Given the description of an element on the screen output the (x, y) to click on. 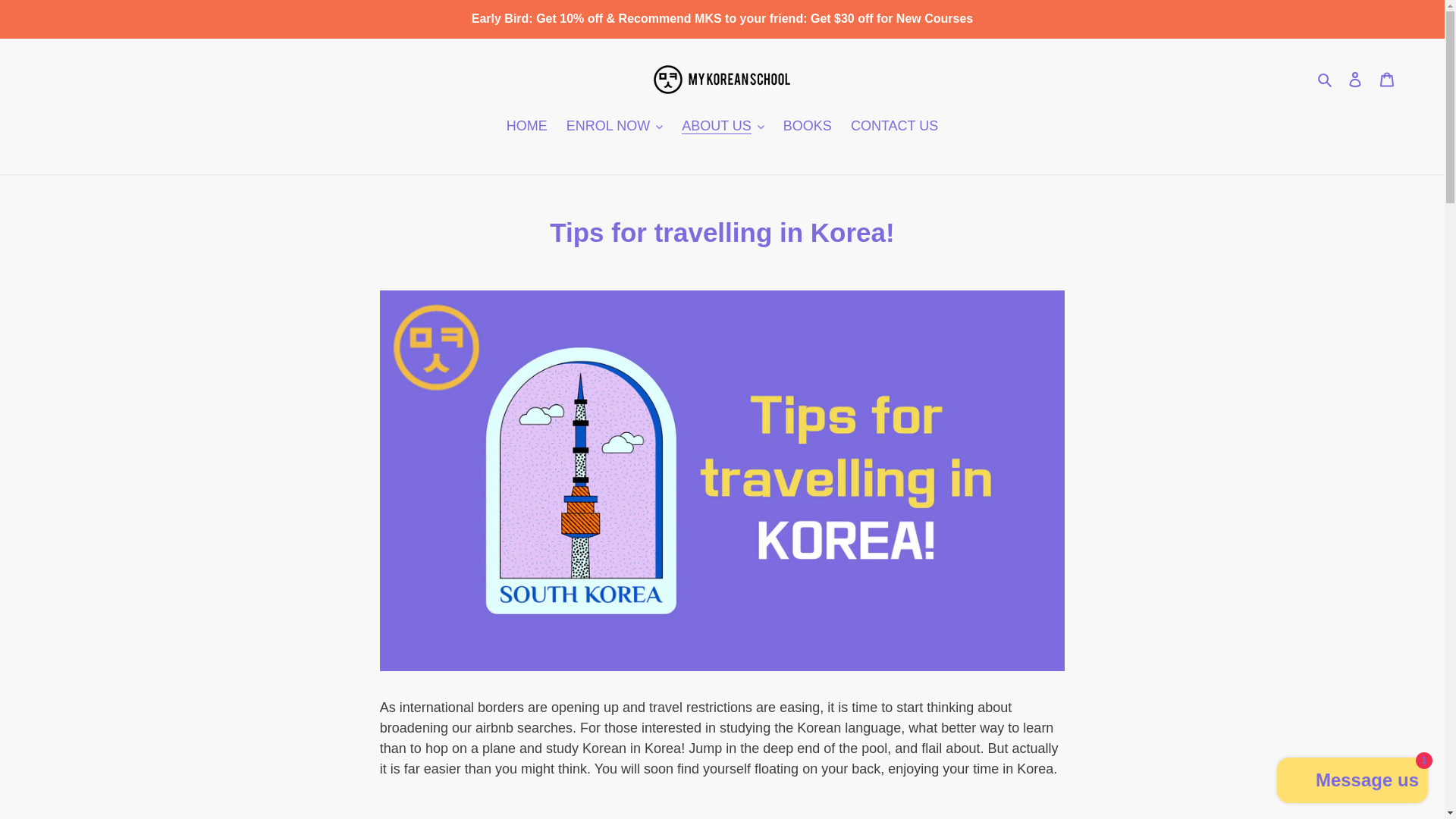
Log in (1355, 79)
Search (1326, 78)
Cart (1387, 79)
ABOUT US (722, 127)
ENROL NOW (614, 127)
Shopify online store chat (1352, 781)
HOME (526, 127)
